Given the description of an element on the screen output the (x, y) to click on. 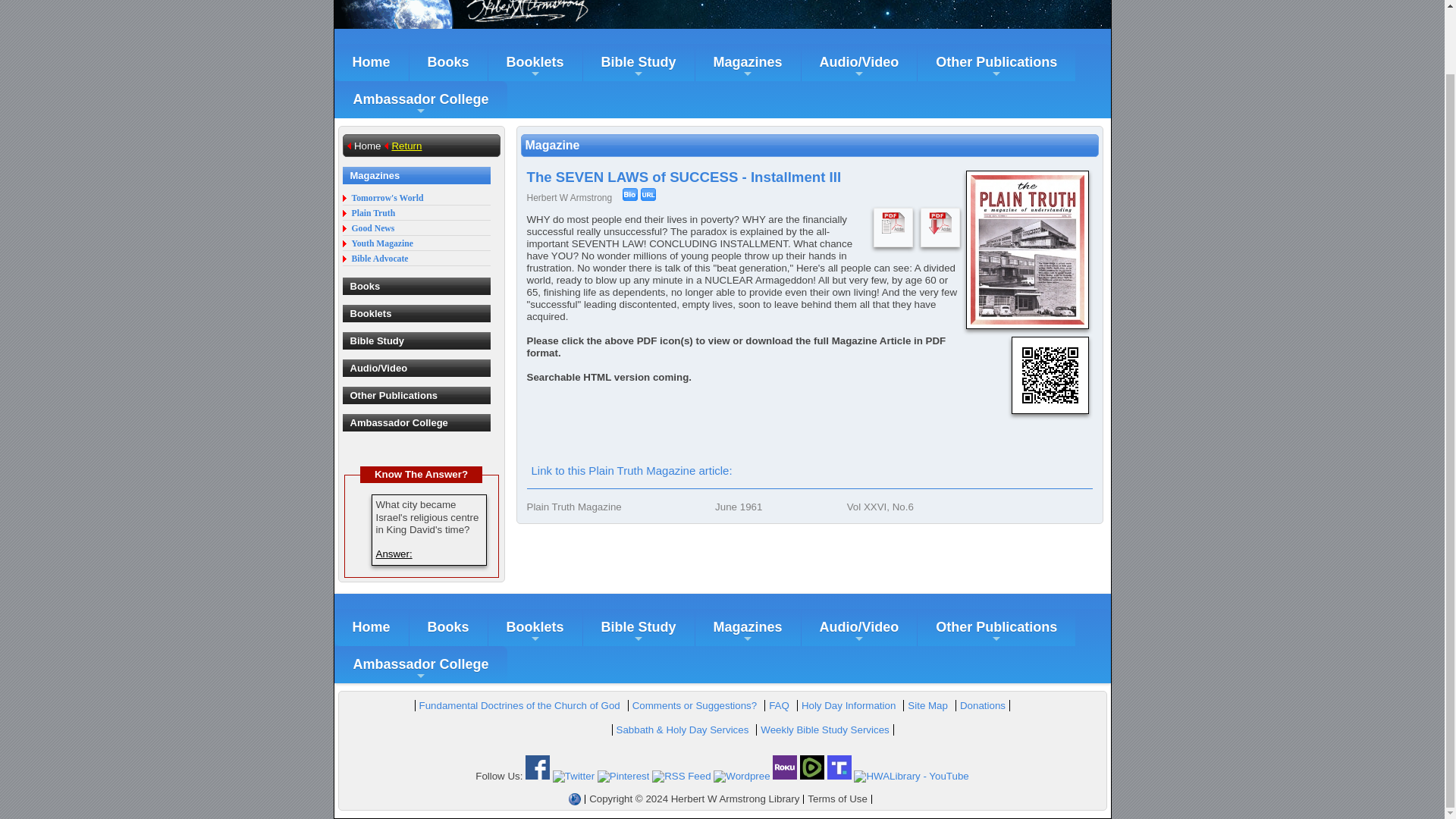
Books (448, 62)
HWALibrary - Pinterest (622, 776)
HWALibrary - RSS Feed (681, 776)
Link to this Plain Truth Magazine article: (630, 470)
Bible Study (638, 62)
Worldwide Church of God (574, 799)
Home (370, 62)
HWALibrary - Twitter (573, 776)
HWALibrary - Roku TV (784, 776)
